Given the description of an element on the screen output the (x, y) to click on. 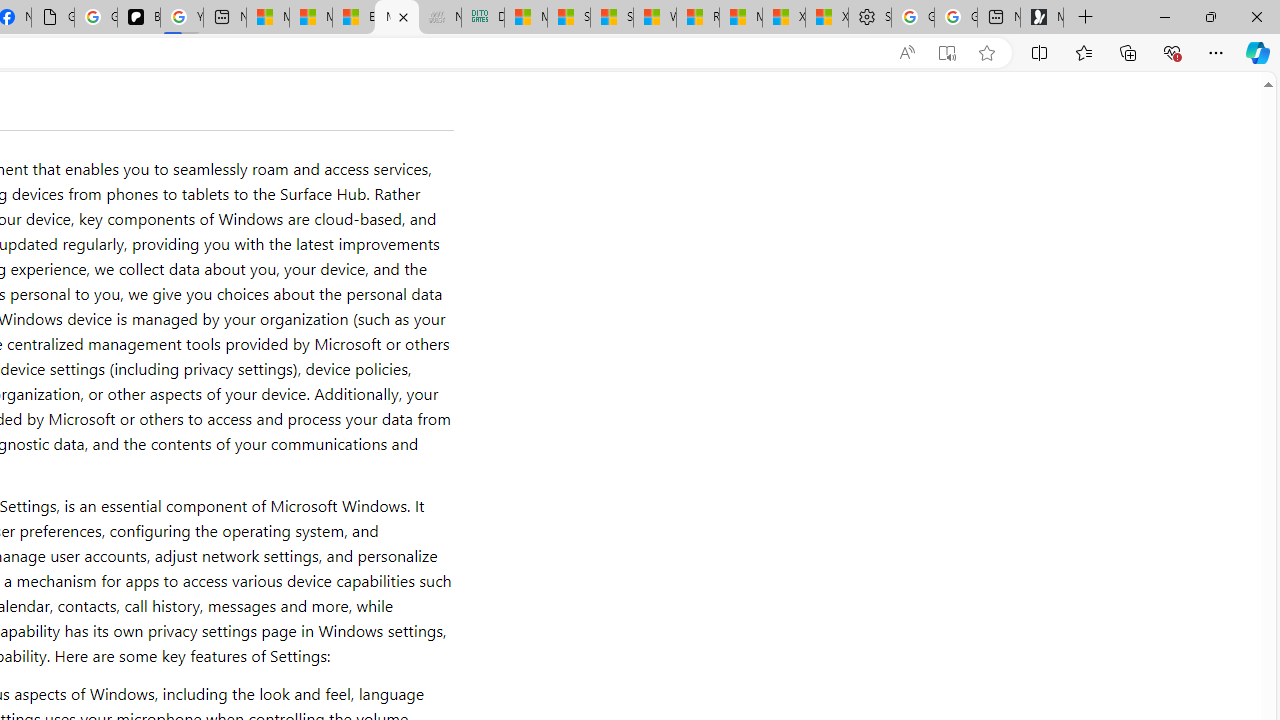
Google Analytics Opt-out Browser Add-on Download Page (53, 17)
Entertainment - MSN (353, 17)
R******* | Trusted Community Engagement and Contributions (698, 17)
Enter Immersive Reader (F9) (946, 53)
